Given the description of an element on the screen output the (x, y) to click on. 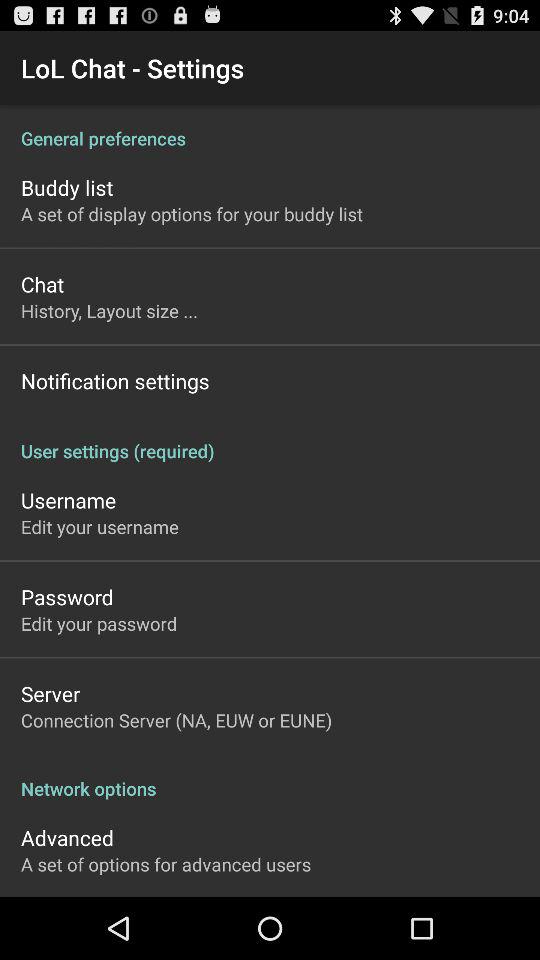
turn on app above buddy list app (270, 127)
